Given the description of an element on the screen output the (x, y) to click on. 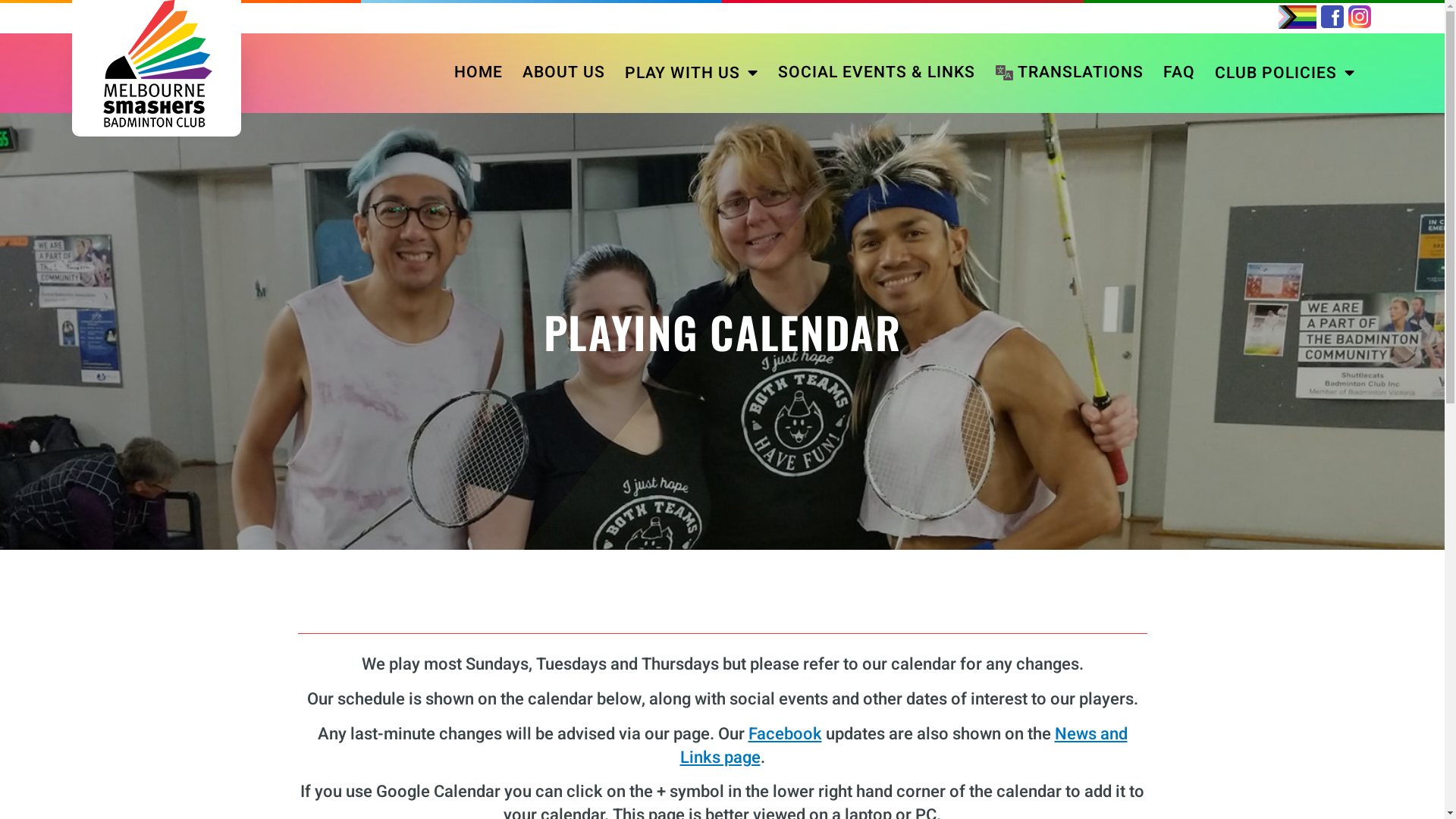
CLUB POLICIES Element type: text (1284, 72)
HOME Element type: text (478, 72)
News and Links page Element type: text (902, 745)
FAQ Element type: text (1178, 72)
Facebook Element type: text (784, 733)
TRANSLATIONS Element type: text (1069, 72)
ABOUT US Element type: text (563, 72)
PLAY WITH US Element type: text (691, 72)
SOCIAL EVENTS & LINKS Element type: text (876, 72)
